Given the description of an element on the screen output the (x, y) to click on. 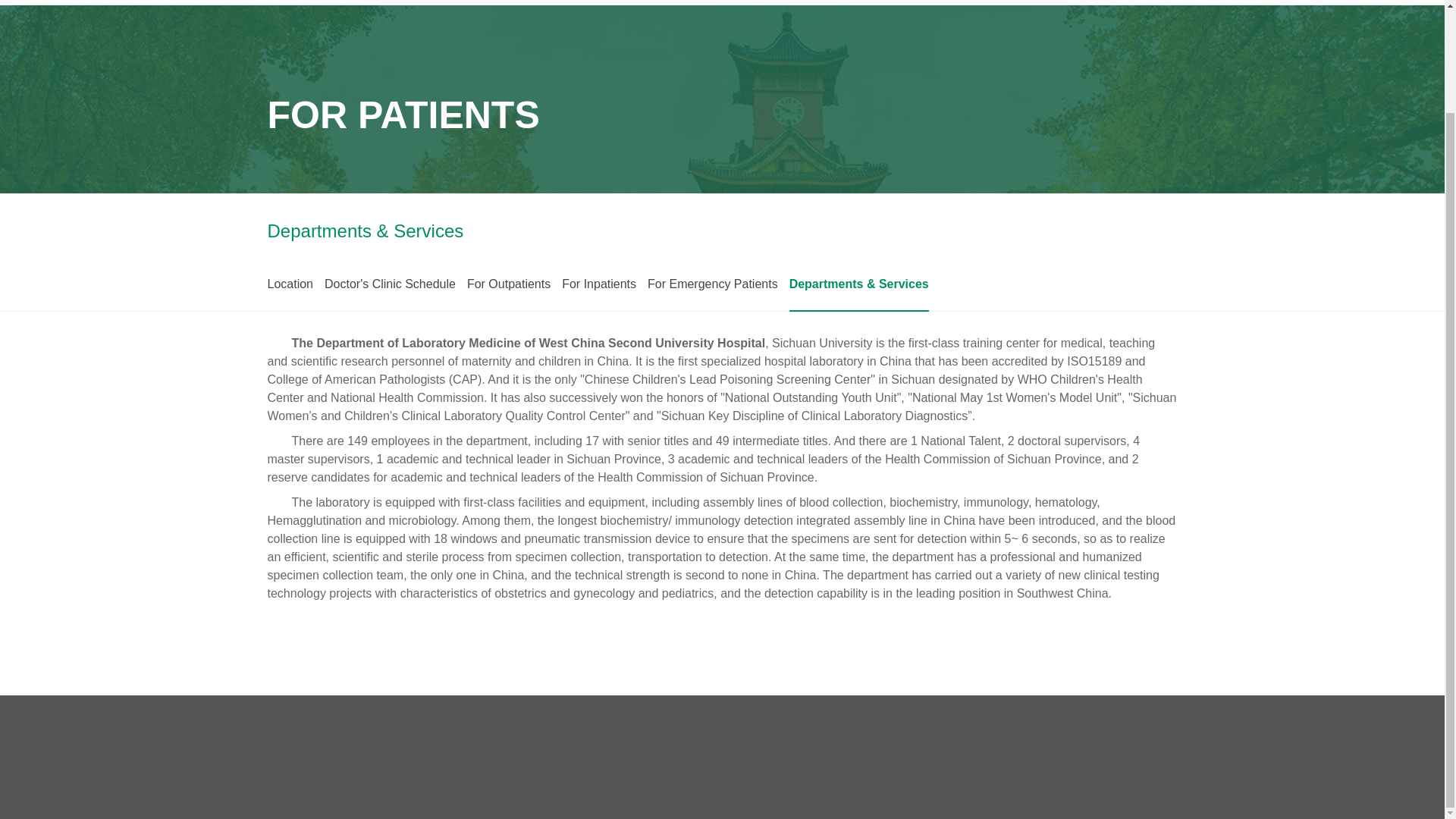
For Inpatients (599, 285)
Doctor's Clinic Schedule (389, 285)
For Outpatients (508, 285)
For Emergency Patients (712, 285)
